Given the description of an element on the screen output the (x, y) to click on. 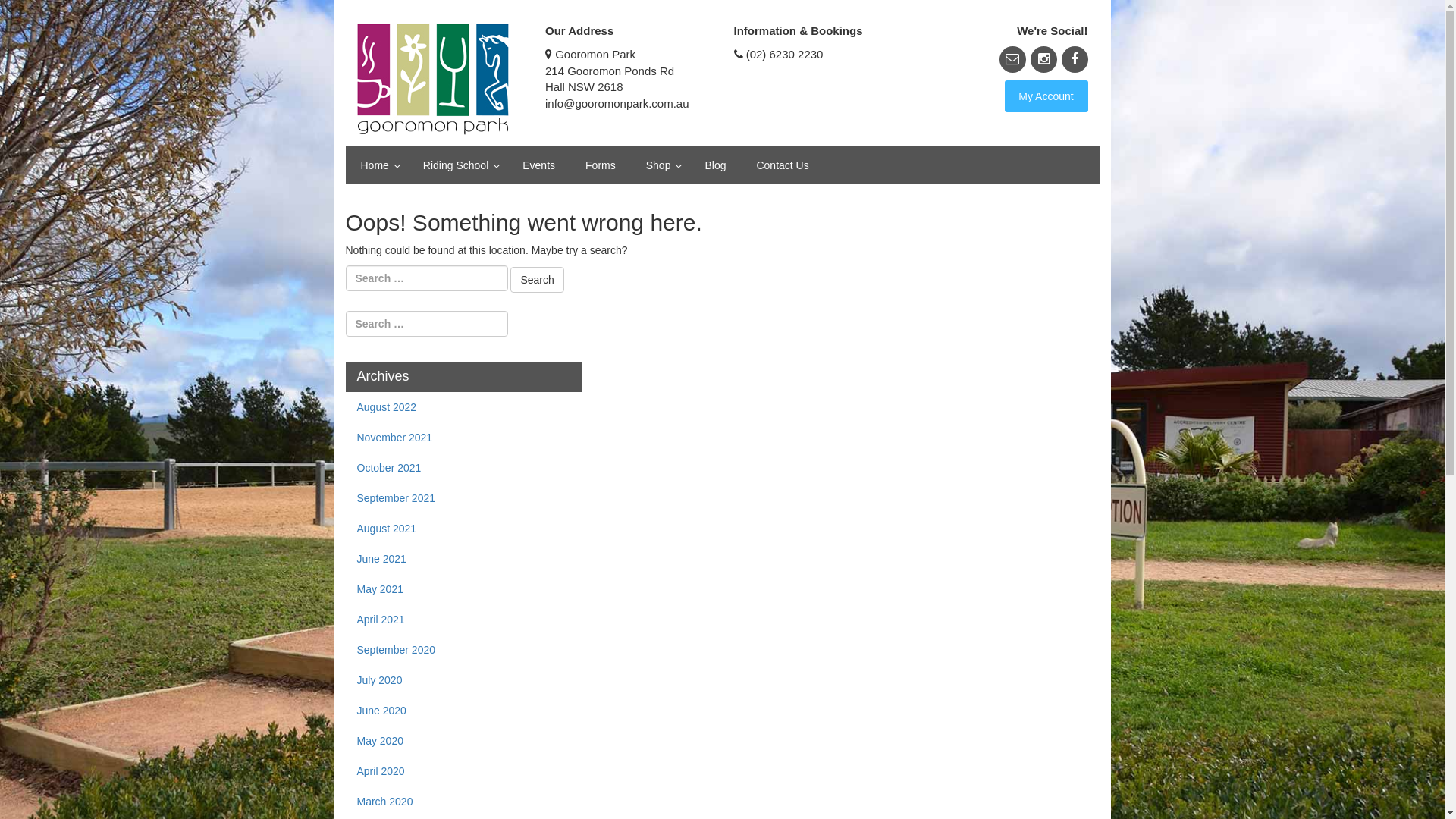
June 2020 Element type: text (463, 710)
May 2021 Element type: text (463, 589)
September 2021 Element type: text (463, 498)
Events Element type: text (538, 164)
Search for: Element type: hover (426, 278)
May 2020 Element type: text (463, 740)
April 2021 Element type: text (463, 619)
Forms Element type: text (600, 164)
Home Element type: text (376, 164)
August 2022 Element type: text (463, 407)
August 2021 Element type: text (463, 528)
March 2020 Element type: text (463, 801)
Riding School Element type: text (457, 164)
Blog Element type: text (714, 164)
April 2020 Element type: text (463, 771)
November 2021 Element type: text (463, 437)
Shop Element type: text (660, 164)
Contact Us Element type: text (781, 164)
Search for: Element type: hover (426, 323)
July 2020 Element type: text (463, 680)
June 2021 Element type: text (463, 558)
September 2020 Element type: text (463, 649)
Search Element type: text (536, 279)
Search Element type: text (26, 12)
My Account Element type: text (1045, 96)
October 2021 Element type: text (463, 467)
